Given the description of an element on the screen output the (x, y) to click on. 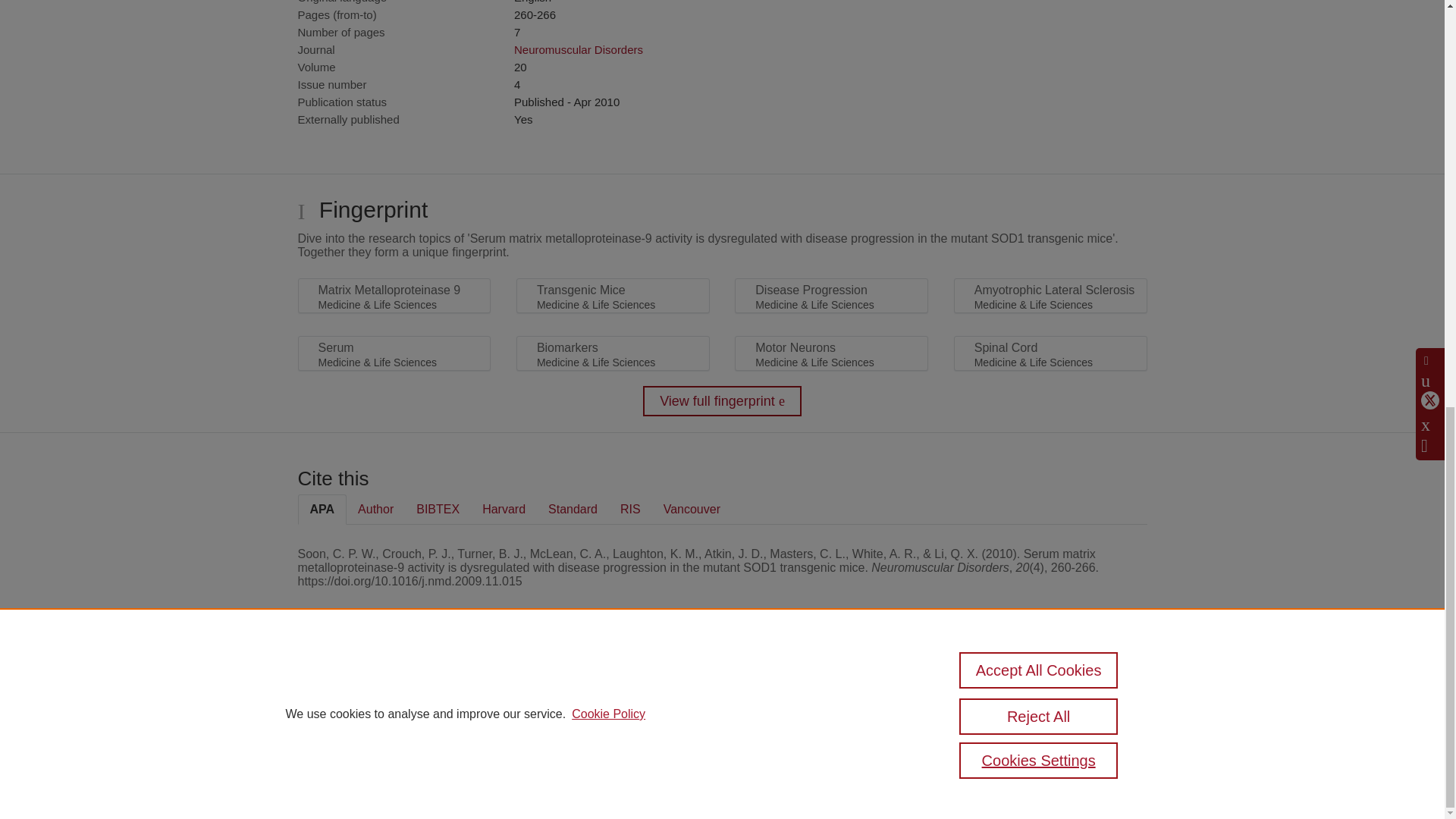
Pure (362, 686)
Neuromuscular Disorders (578, 49)
Scopus (394, 686)
View full fingerprint (722, 400)
